Given the description of an element on the screen output the (x, y) to click on. 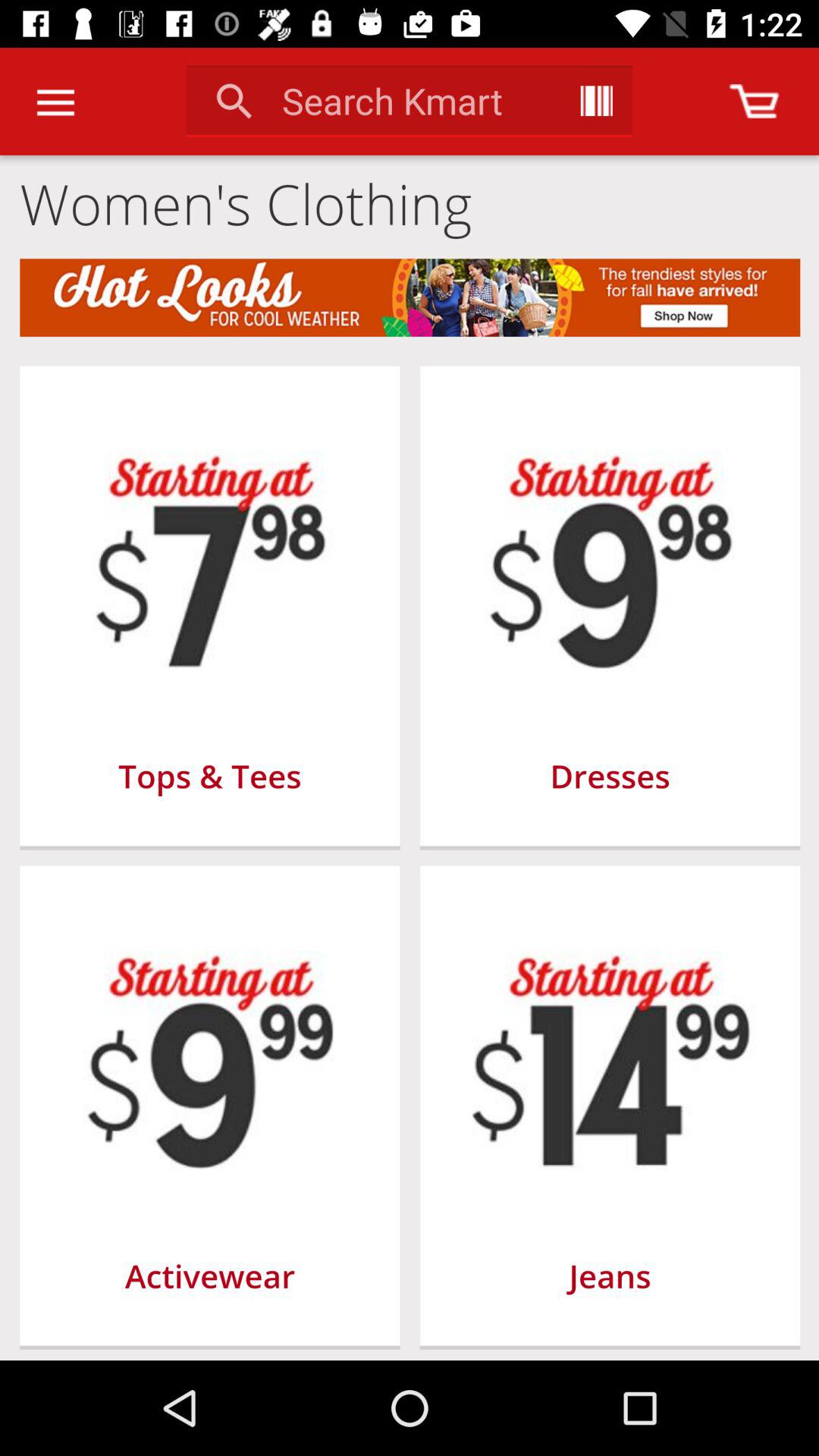
information gallery (596, 100)
